Given the description of an element on the screen output the (x, y) to click on. 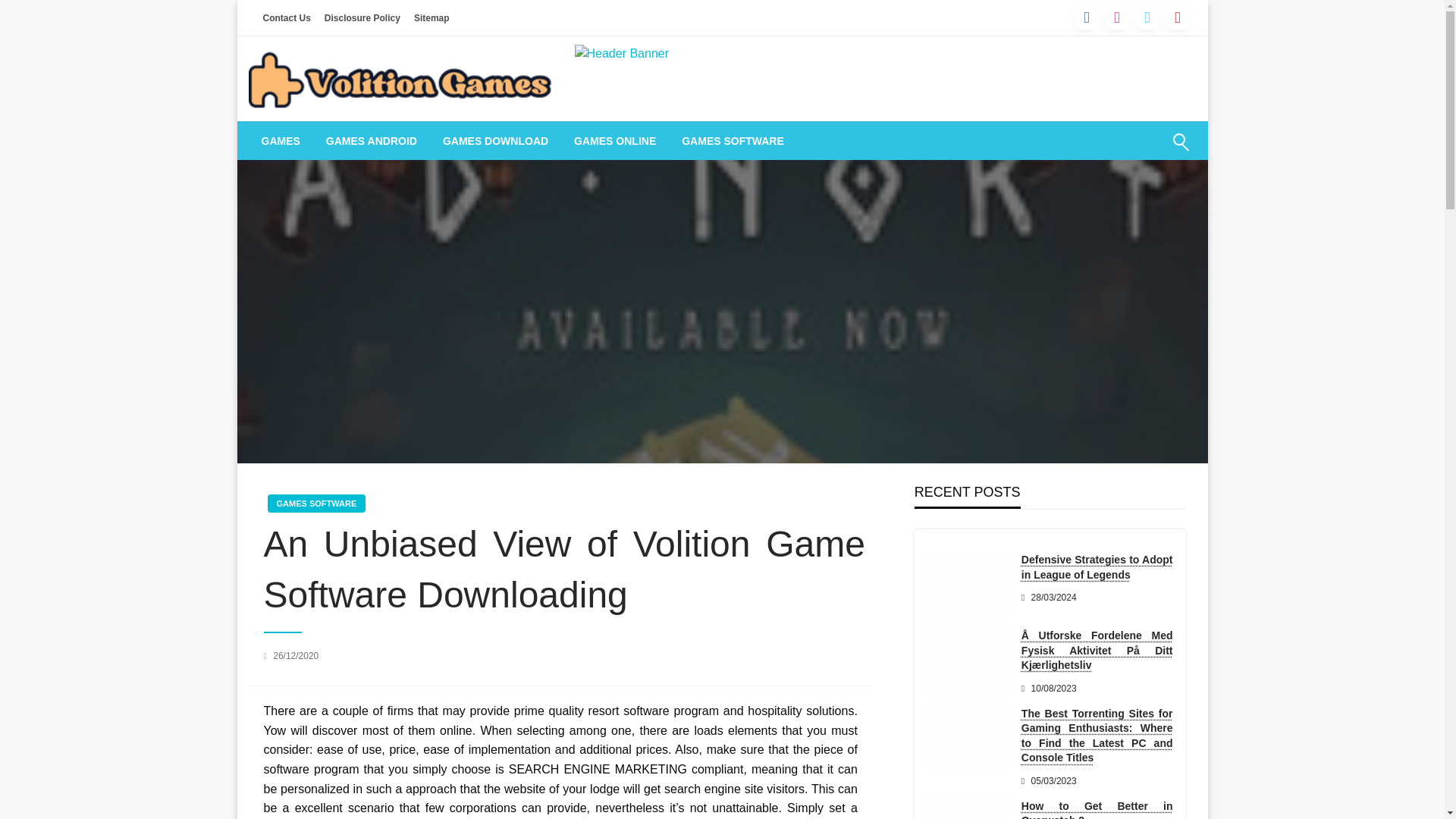
GAMES ONLINE (614, 140)
GAMES (280, 140)
GAMES DOWNLOAD (494, 140)
GAMES SOFTWARE (732, 140)
Sitemap (432, 17)
Disclosure Policy (362, 17)
Contact Us (286, 17)
Defensive Strategies to Adopt in League of Legends (968, 584)
Search (1144, 151)
GAMES ANDROID (371, 140)
GAMES SOFTWARE (315, 503)
